Given the description of an element on the screen output the (x, y) to click on. 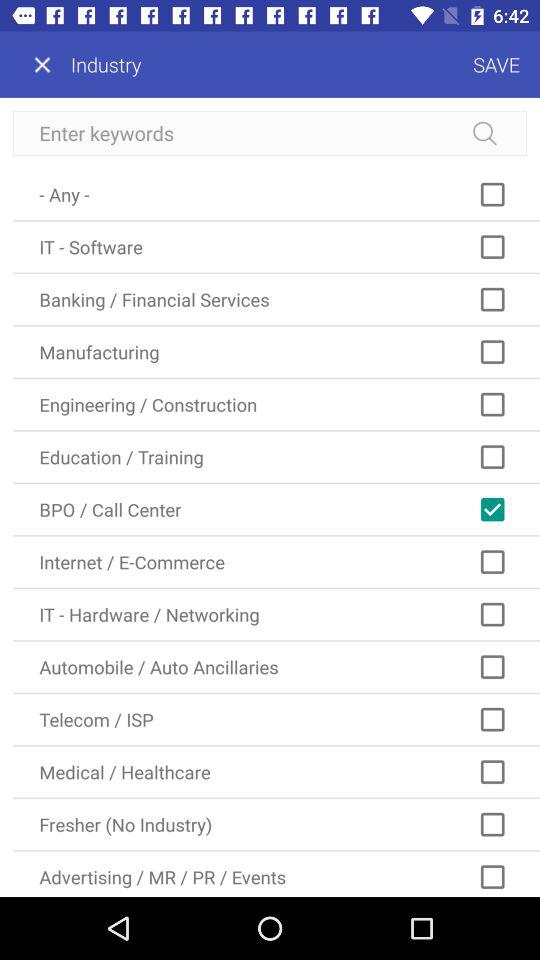
turn on the icon above education / training icon (276, 404)
